Given the description of an element on the screen output the (x, y) to click on. 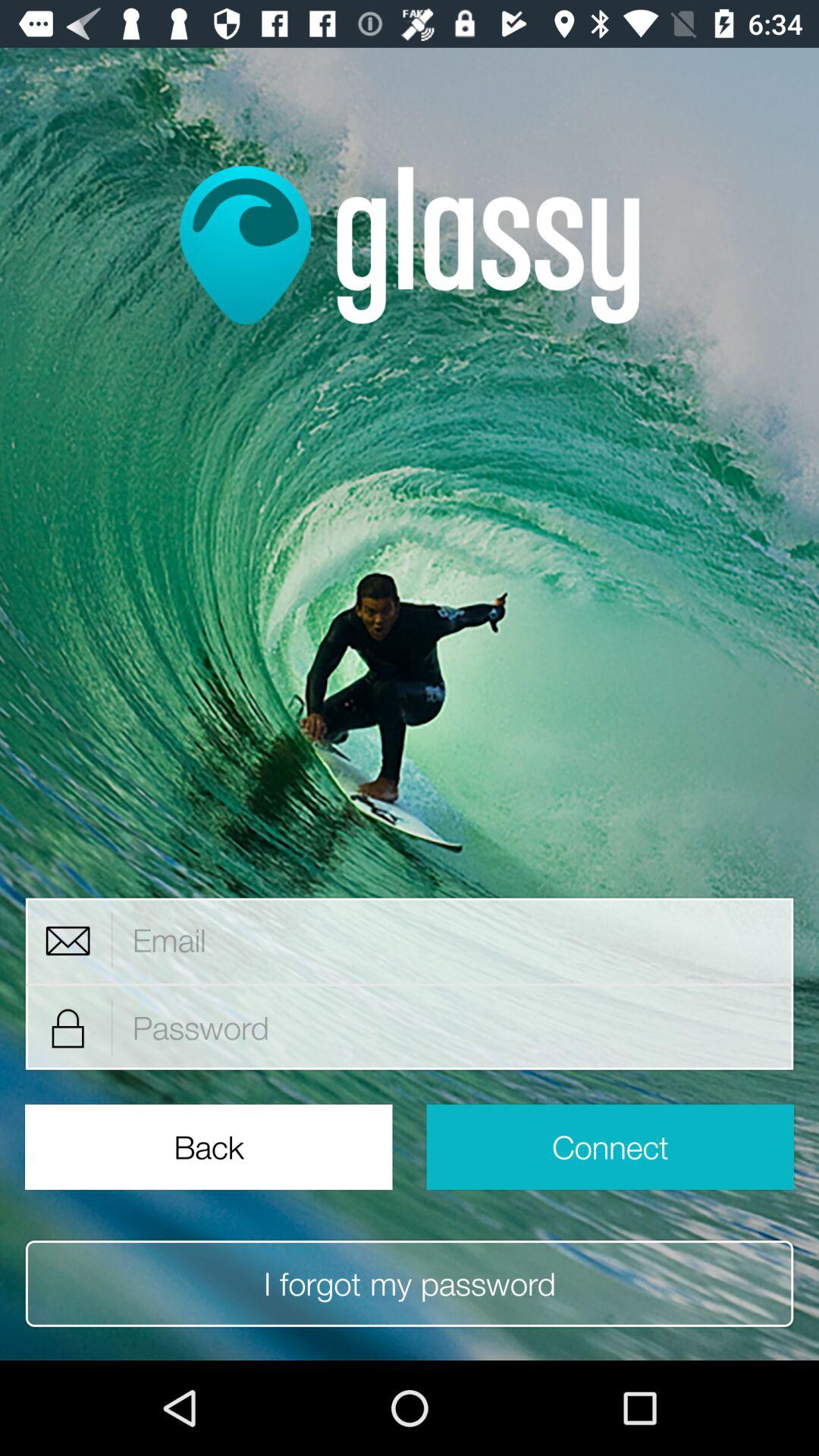
press item next to the back icon (609, 1146)
